Given the description of an element on the screen output the (x, y) to click on. 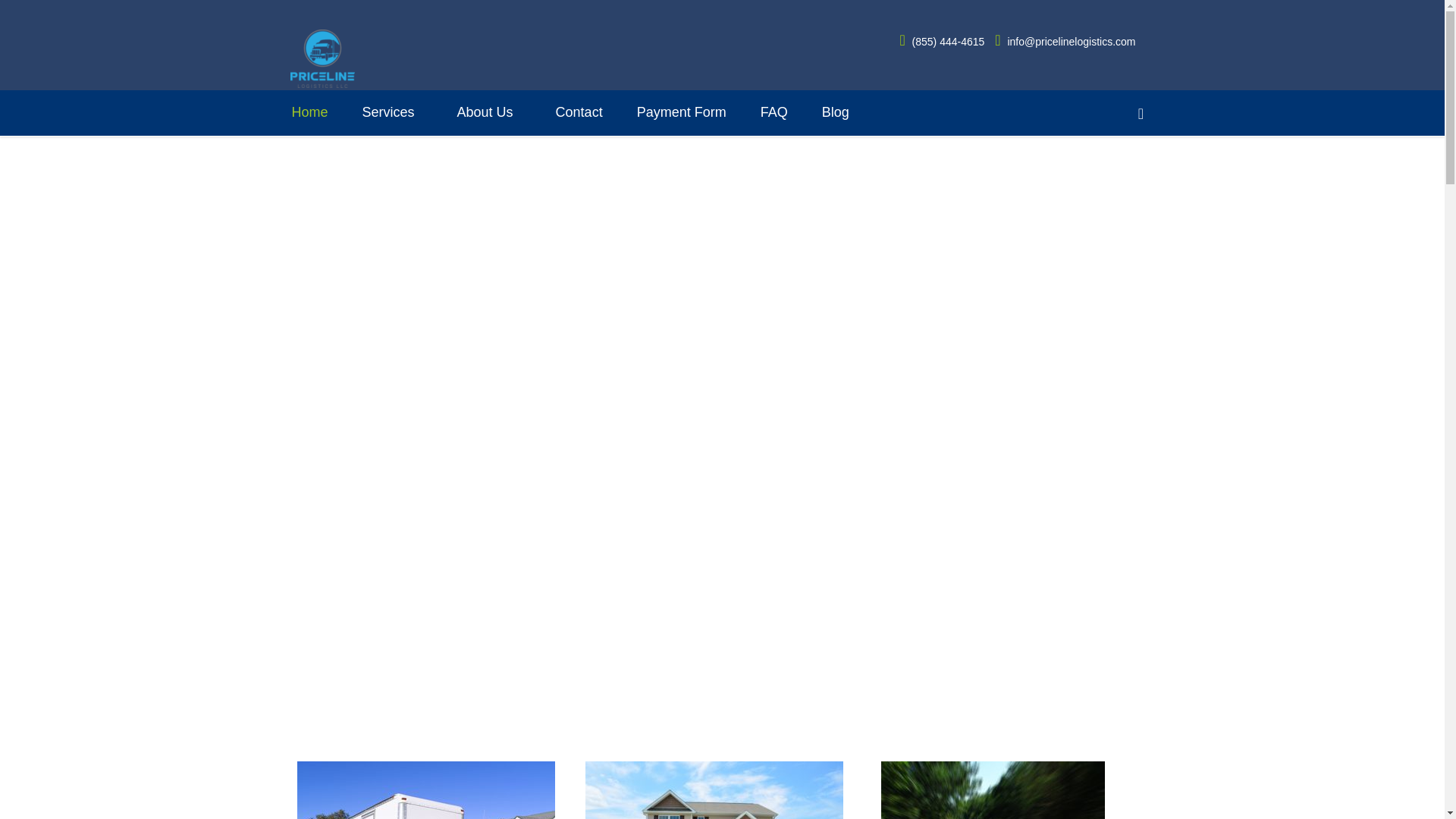
FAQ (774, 116)
About Us (484, 116)
Payment Form (681, 112)
FAQ (774, 112)
Services (387, 116)
Search (1141, 113)
Home (309, 112)
Blog (835, 112)
Contact (578, 112)
Contact (579, 116)
Services (388, 112)
About Us (485, 112)
Search (1141, 113)
